Given the description of an element on the screen output the (x, y) to click on. 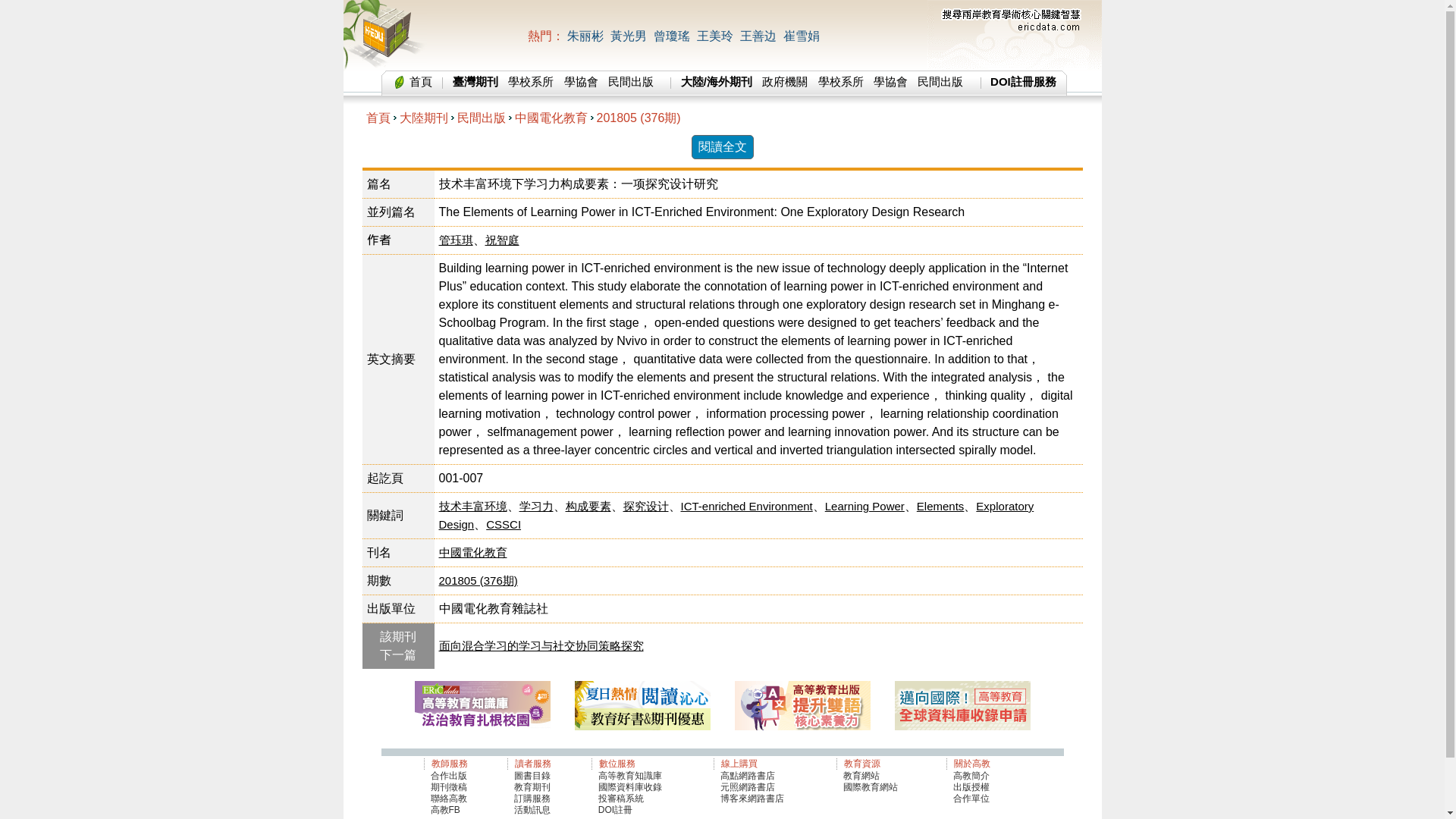
Learning Power (864, 505)
CSSCI (503, 523)
Elements (940, 505)
Exploratory Design (735, 514)
ICT-enriched Environment (746, 505)
